Given the description of an element on the screen output the (x, y) to click on. 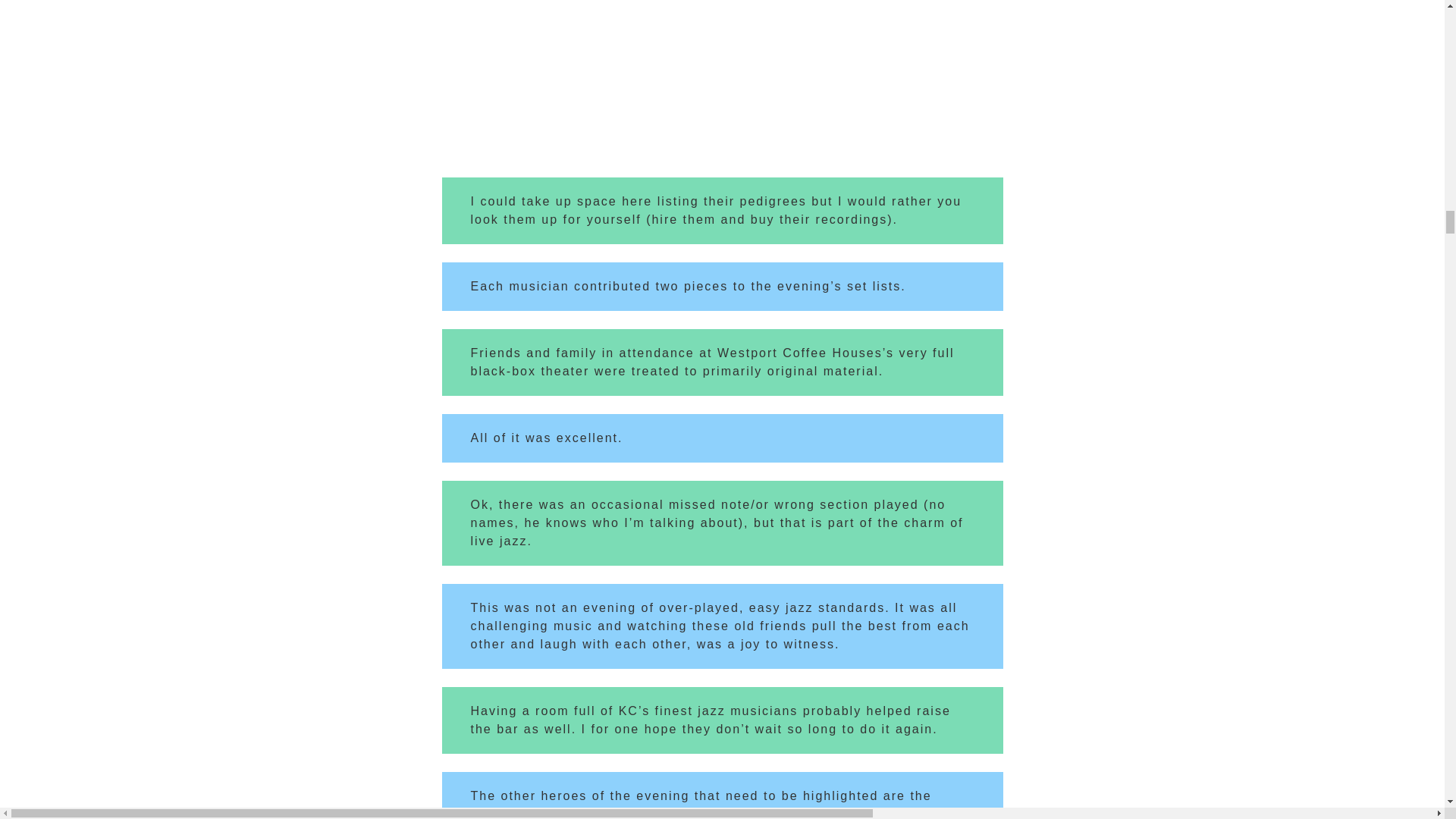
Westport Coffee House (650, 813)
